Given the description of an element on the screen output the (x, y) to click on. 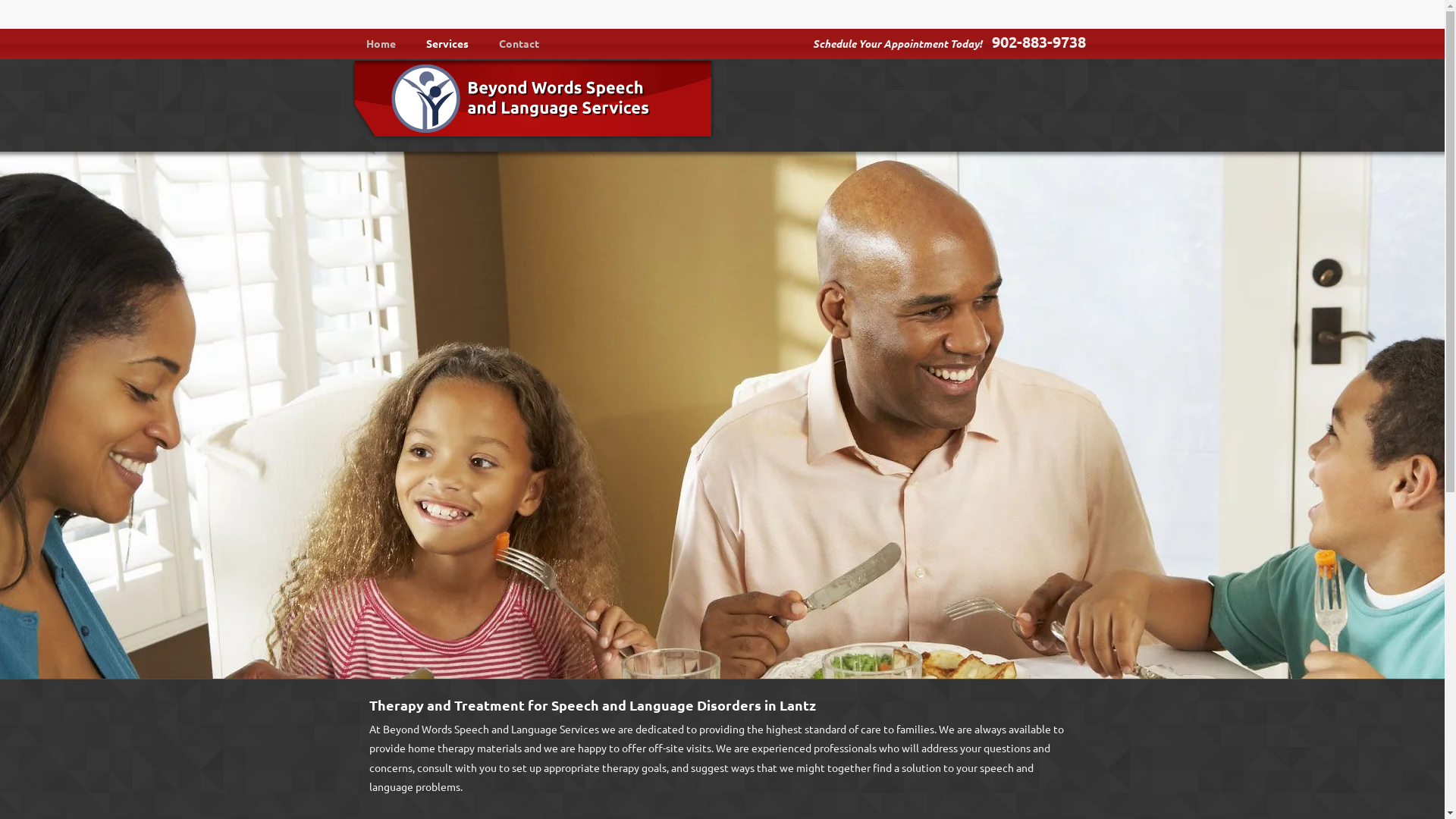
Home Element type: text (381, 42)
Services Element type: text (447, 42)
Contact Element type: text (518, 42)
902-883-9738 Element type: text (1036, 41)
